Given the description of an element on the screen output the (x, y) to click on. 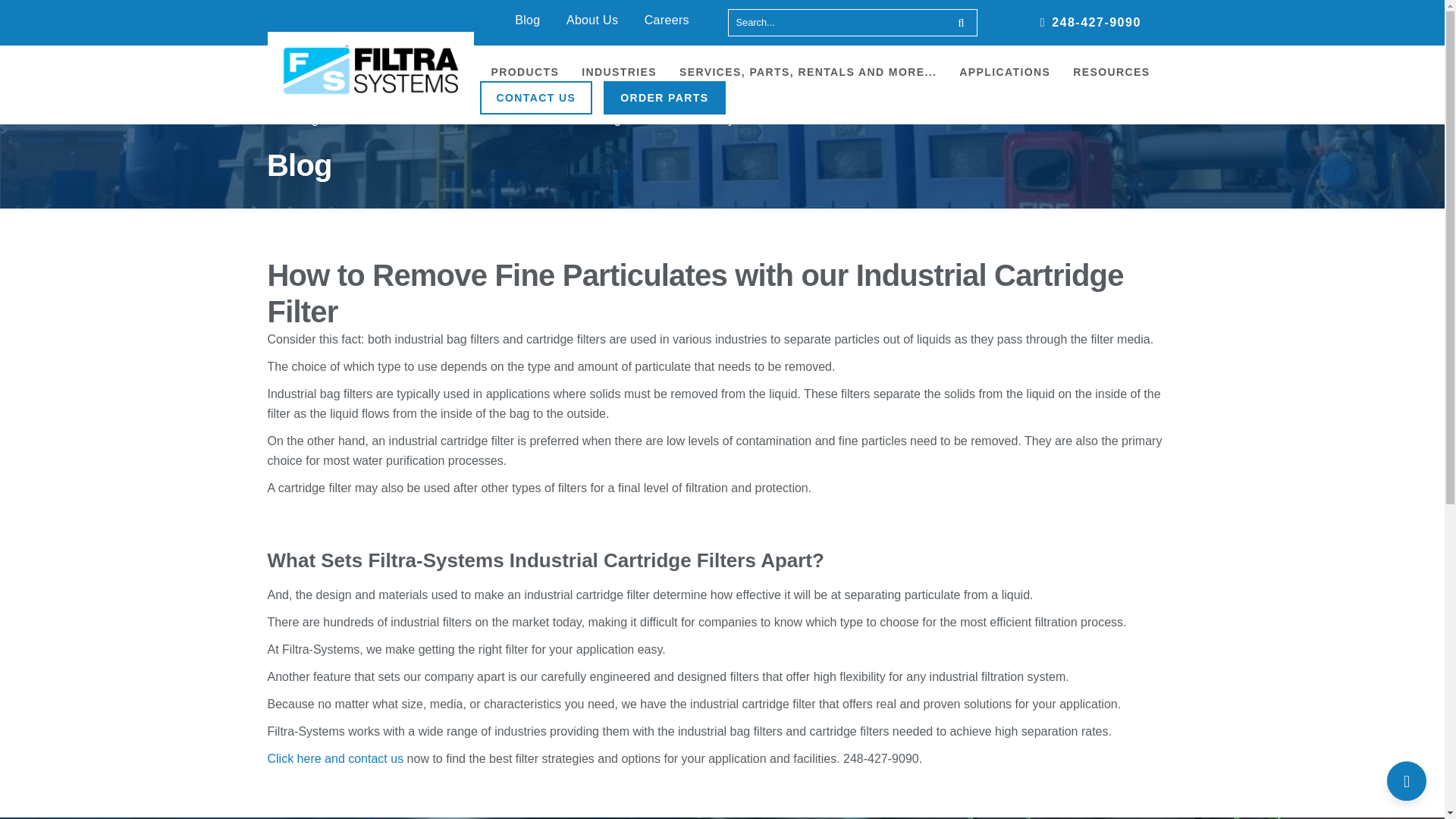
GO (963, 22)
PRODUCTS (525, 71)
Home - Filtra Systems (369, 70)
248-427-9090 (1090, 22)
Blog (527, 19)
INDUSTRIES (618, 71)
Careers (666, 19)
About Us (591, 19)
